Given the description of an element on the screen output the (x, y) to click on. 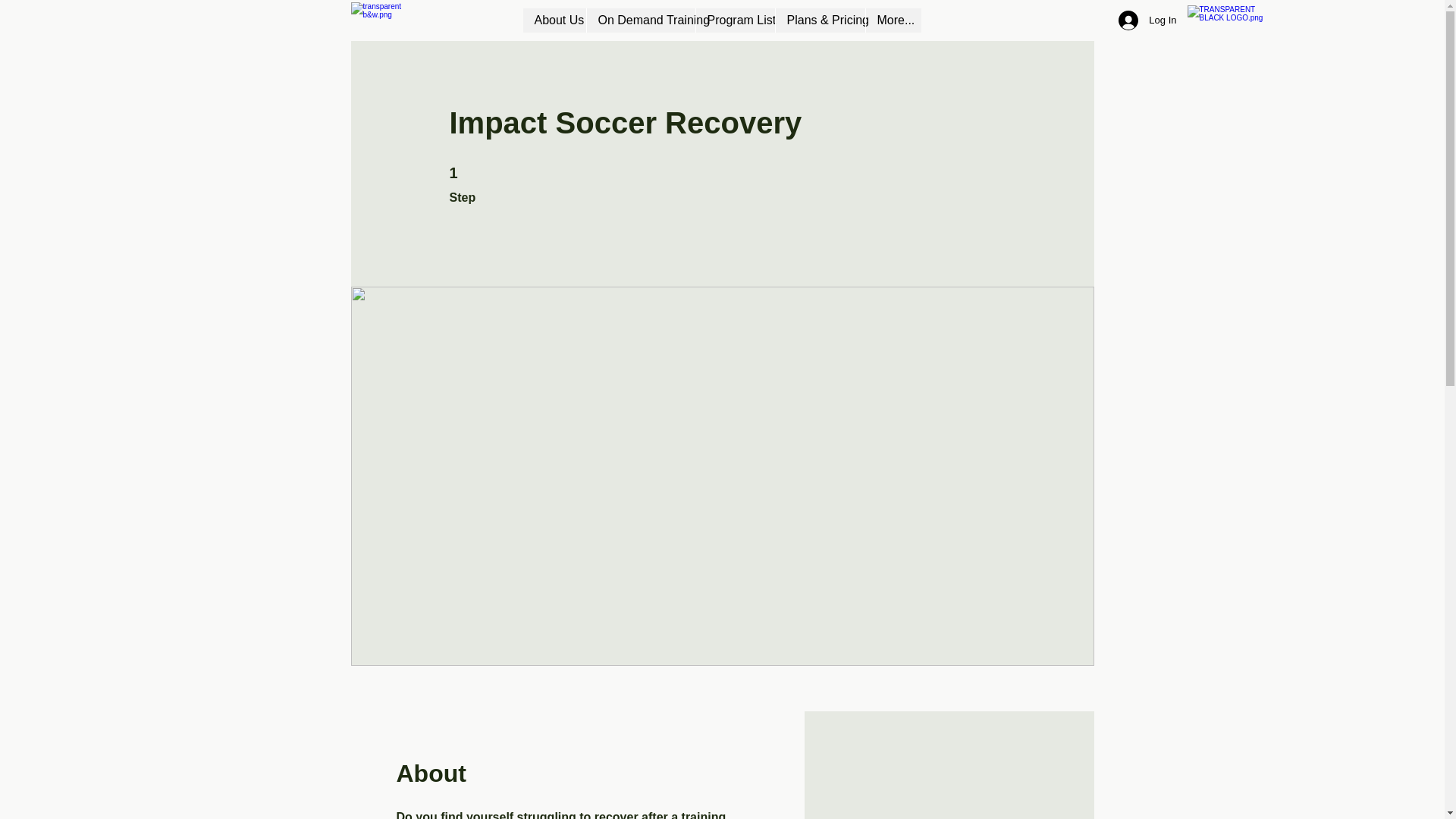
Log In (1147, 20)
Program List (734, 20)
About Us (554, 20)
On Demand Training (639, 20)
